Given the description of an element on the screen output the (x, y) to click on. 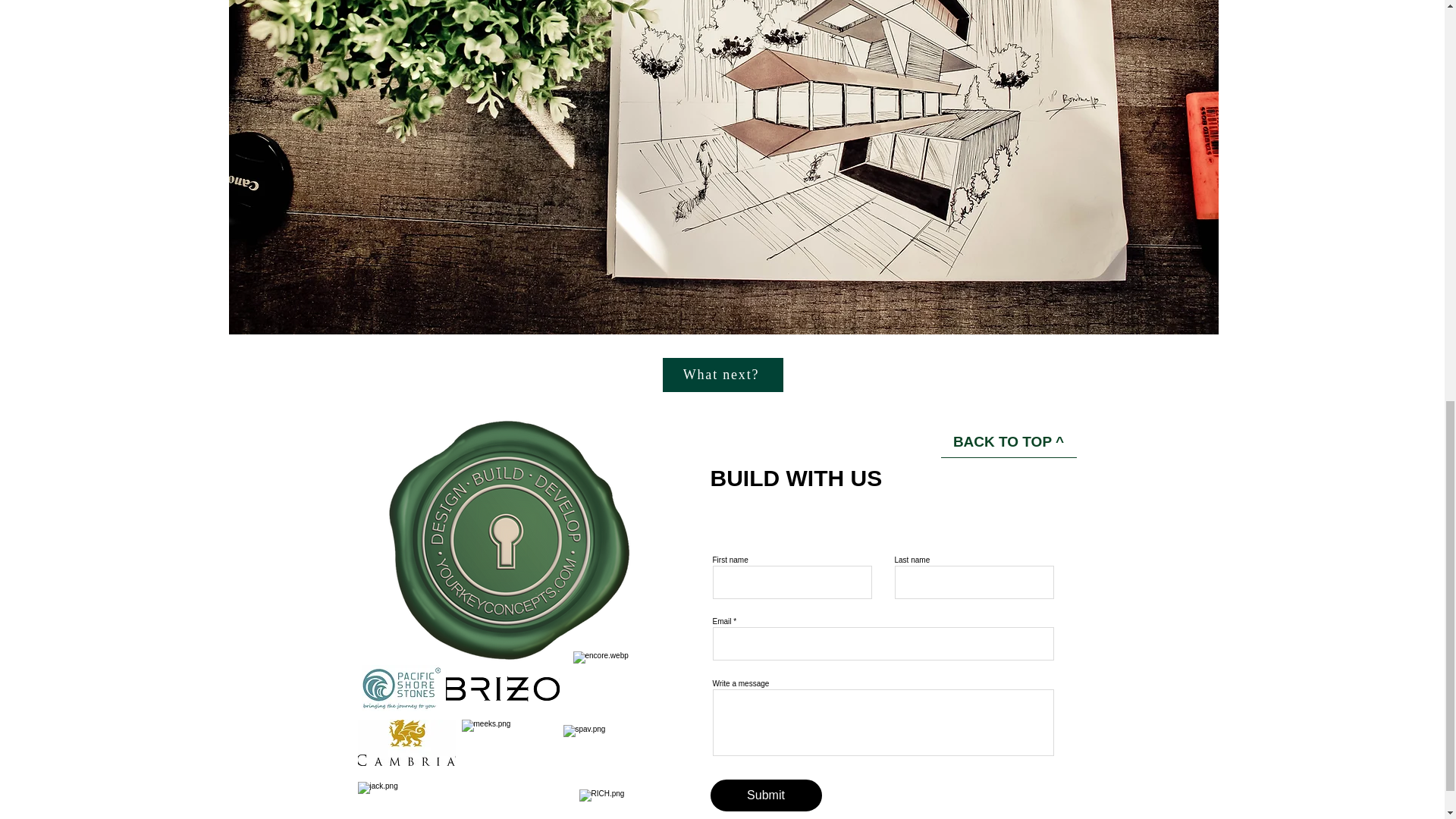
White Transparent.png (509, 536)
Submit (765, 795)
What next? (722, 374)
